Given the description of an element on the screen output the (x, y) to click on. 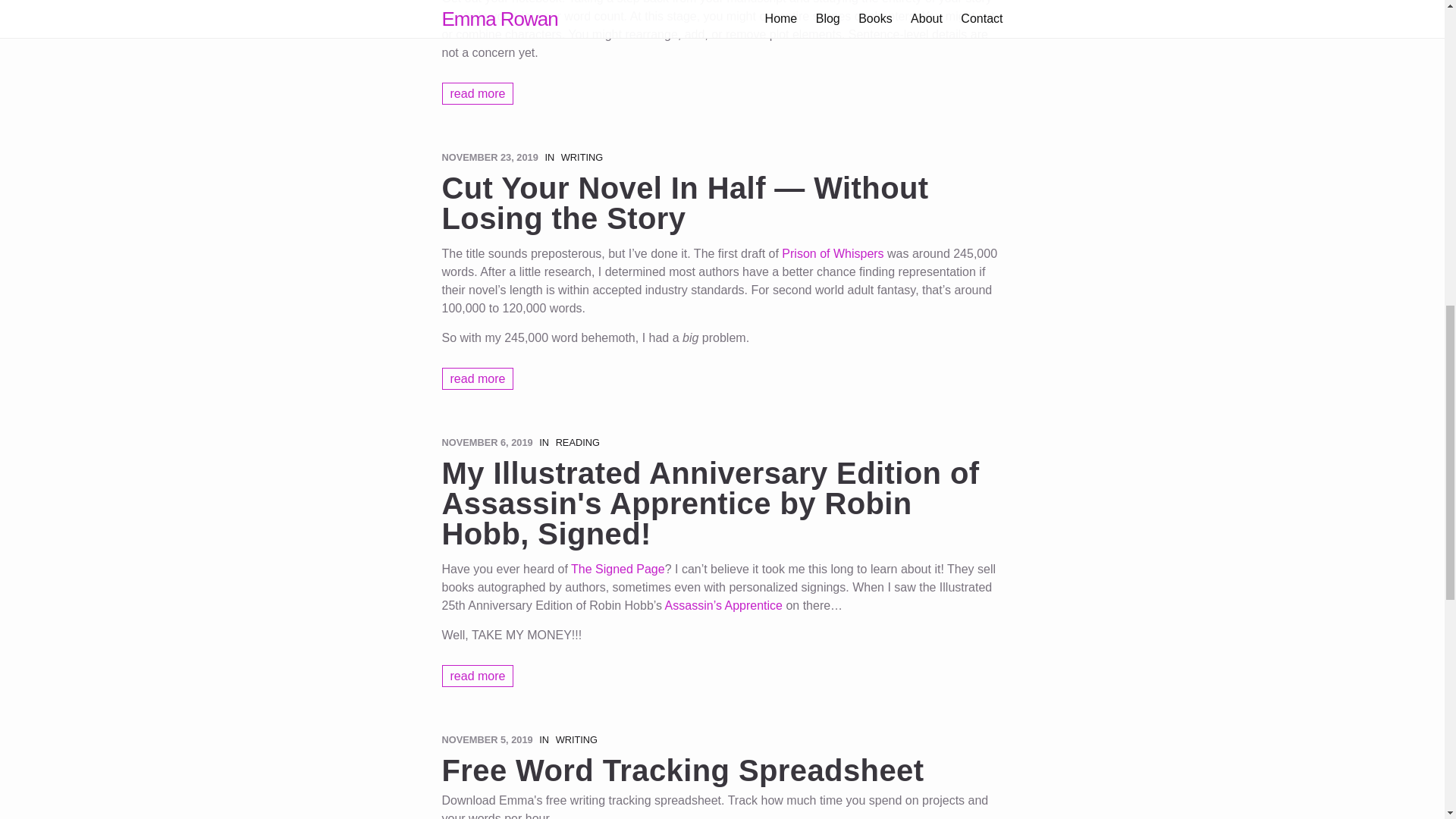
read more (477, 676)
The Signed Page (617, 568)
WRITING (576, 739)
read more (477, 378)
Prison of Whispers (832, 253)
READING (577, 441)
WRITING (581, 156)
Free Word Tracking Spreadsheet (722, 770)
read more (477, 93)
